Given the description of an element on the screen output the (x, y) to click on. 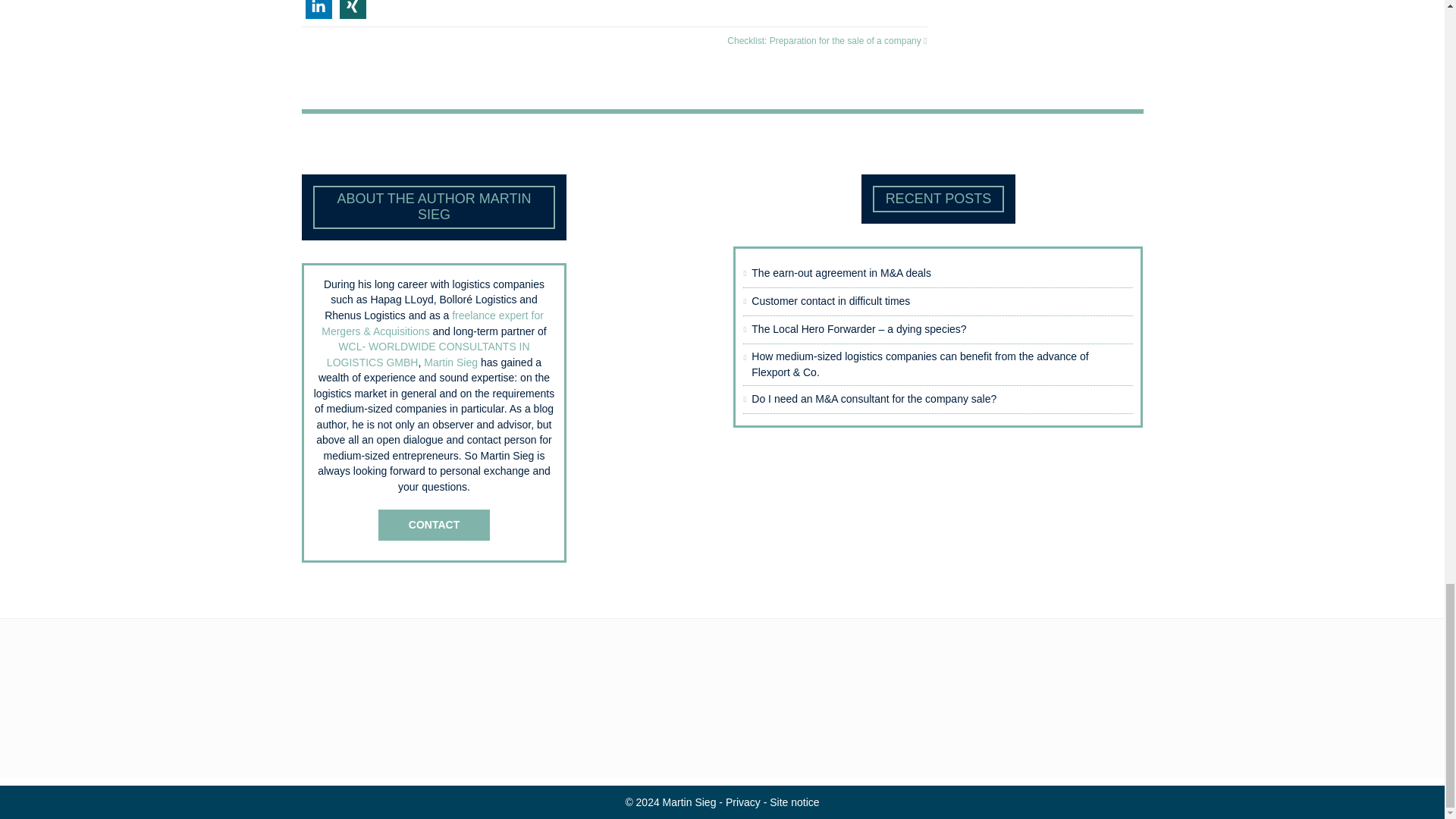
CONTACT (433, 524)
Checklist: Preparation for the sale of a company (823, 40)
WCL- WORLDWIDE CONSULTANTS IN LOGISTICS GMBH (427, 354)
Martin Sieg (670, 802)
Bei XING teilen (352, 9)
Customer contact in difficult times (926, 301)
Martin Sieg (450, 362)
Site notice (794, 802)
Bei LinkedIn teilen (317, 9)
Privacy (742, 802)
